Given the description of an element on the screen output the (x, y) to click on. 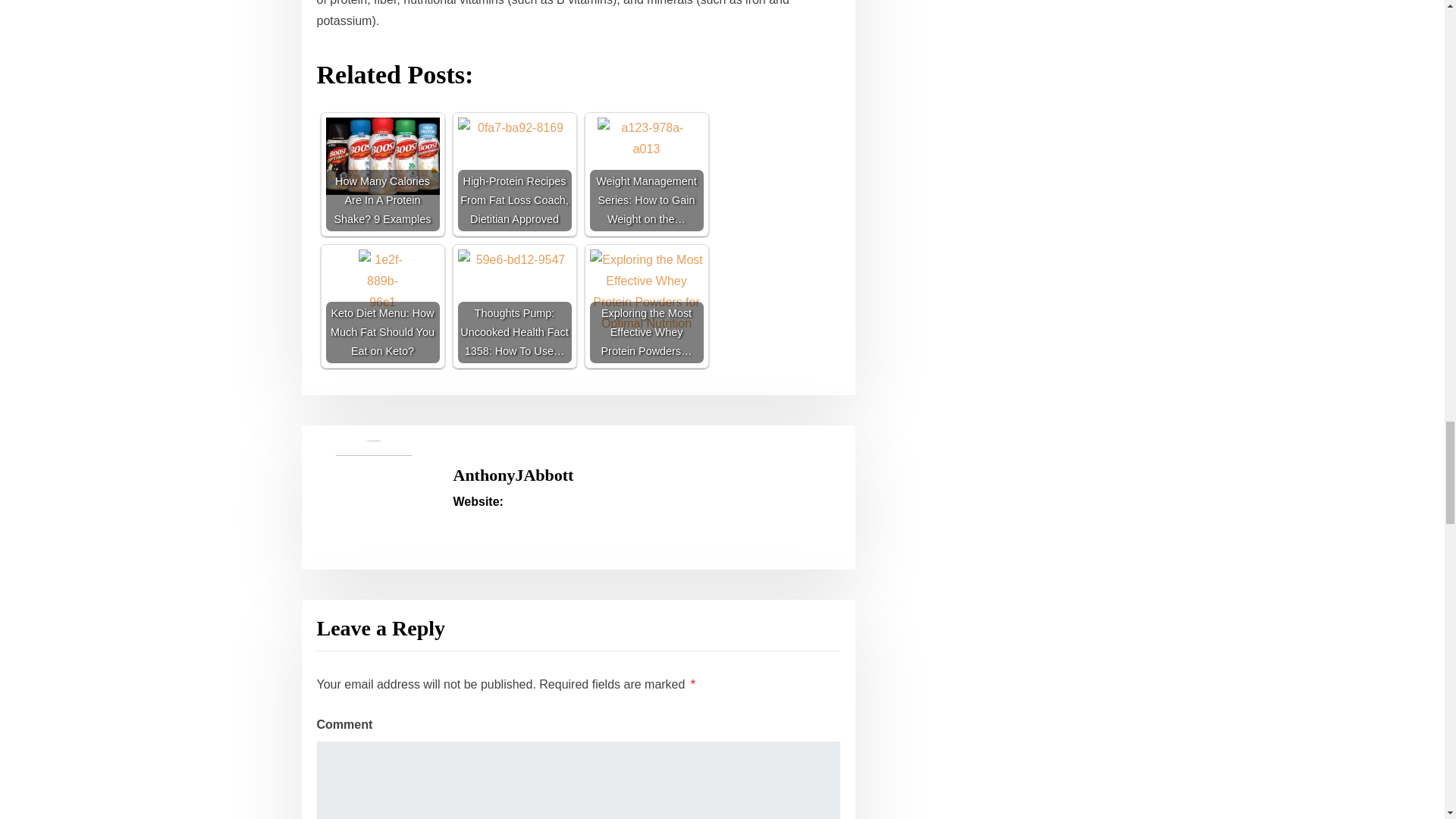
High-Protein Recipes From Fat Loss Coach, Dietitian Approved (515, 155)
How Many Calories Are In A Protein Shake? 9 Examples (382, 155)
How Many Calories Are In A Protein Shake? 9 Examples (382, 173)
High-Protein Recipes From Fat Loss Coach, Dietitian Approved (515, 173)
Keto Diet Menu: How Much Fat Should You Eat on Keto? (382, 306)
